Given the description of an element on the screen output the (x, y) to click on. 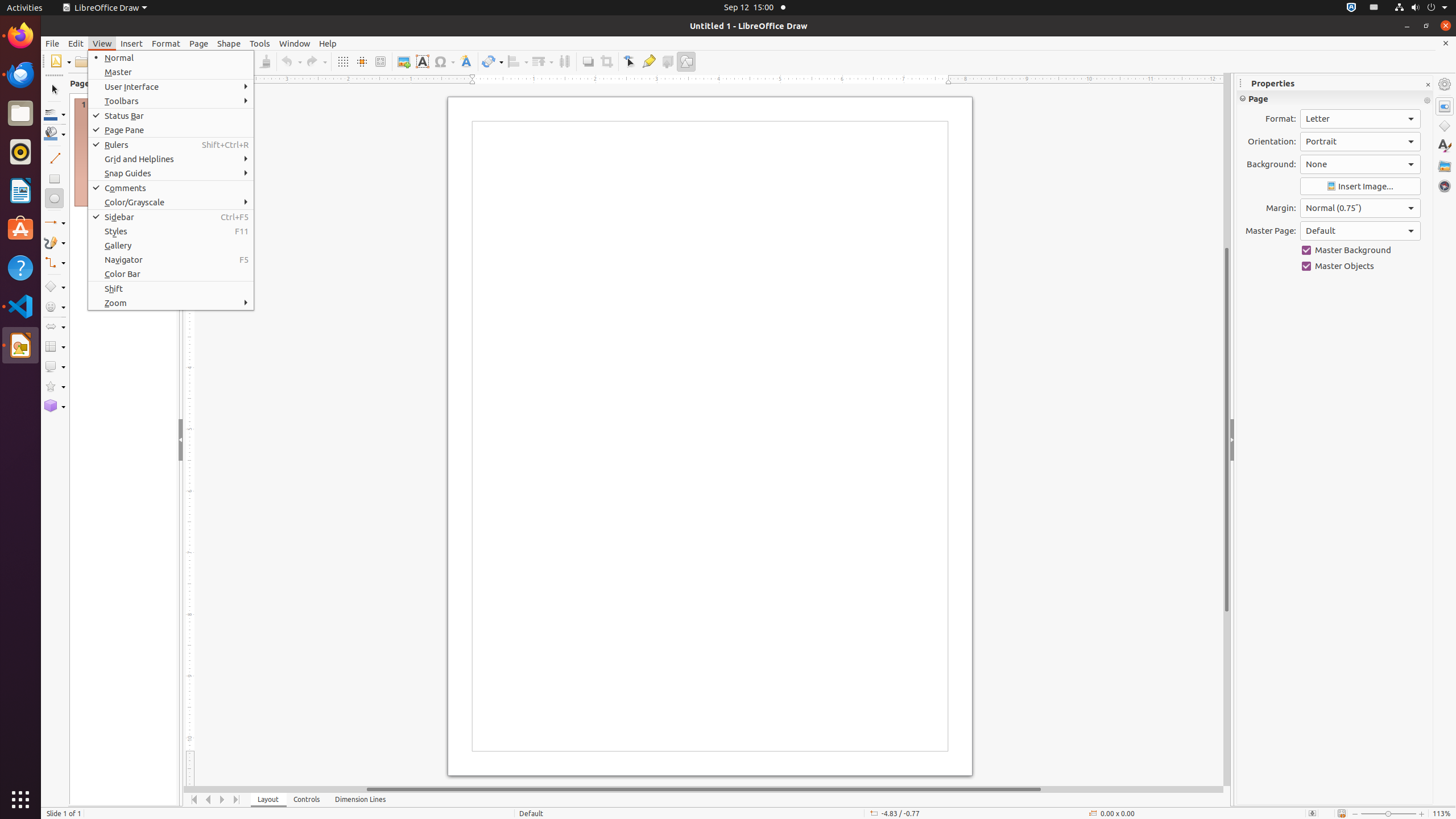
Arrange Element type: push-button (542, 61)
Glue Points Element type: push-button (648, 61)
Snap Guides Element type: menu (170, 173)
Orientation: Element type: combo-box (1360, 141)
Shadow Element type: toggle-button (587, 61)
